Given the description of an element on the screen output the (x, y) to click on. 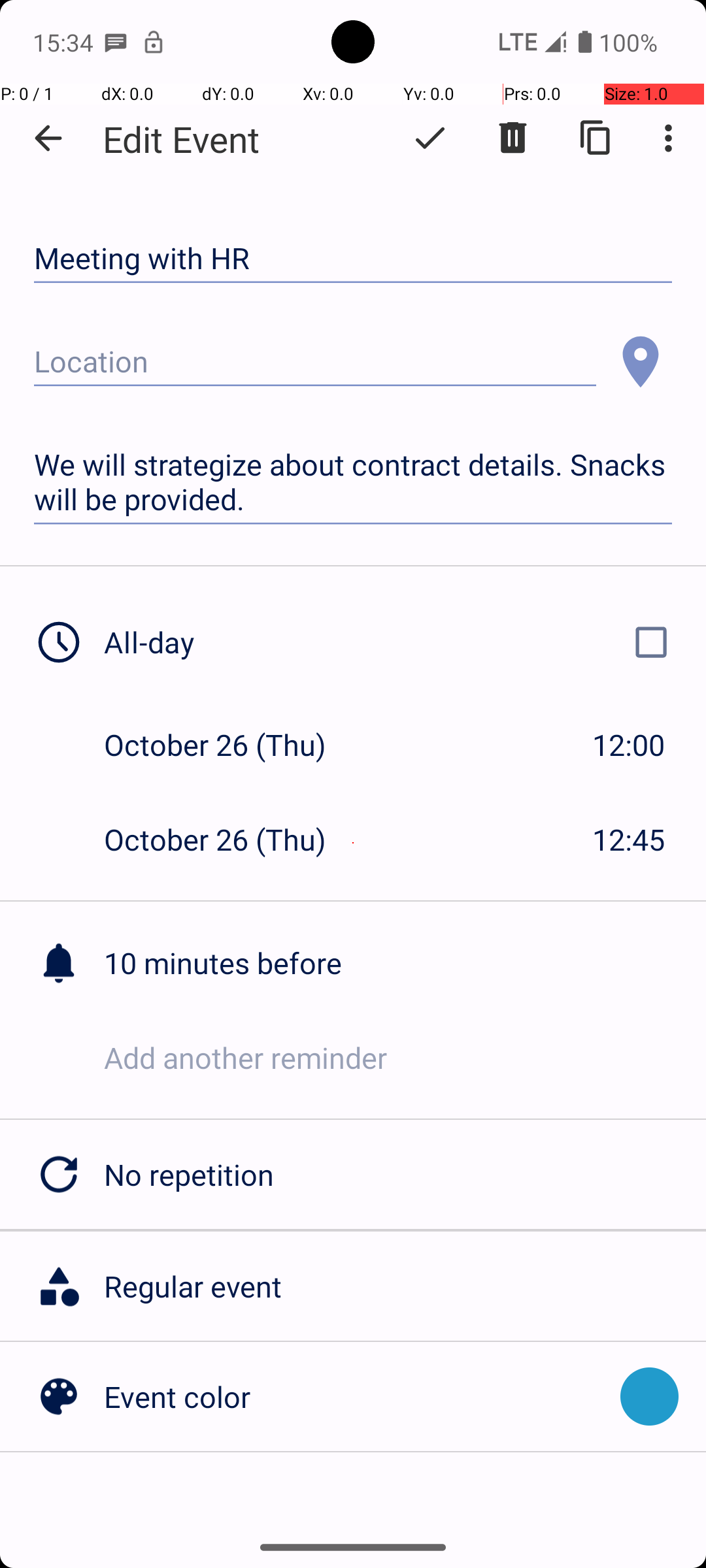
We will strategize about contract details. Snacks will be provided. Element type: android.widget.EditText (352, 482)
October 26 (Thu) Element type: android.widget.TextView (228, 744)
12:45 Element type: android.widget.TextView (628, 838)
Add another reminder Element type: android.widget.TextView (404, 1057)
